Given the description of an element on the screen output the (x, y) to click on. 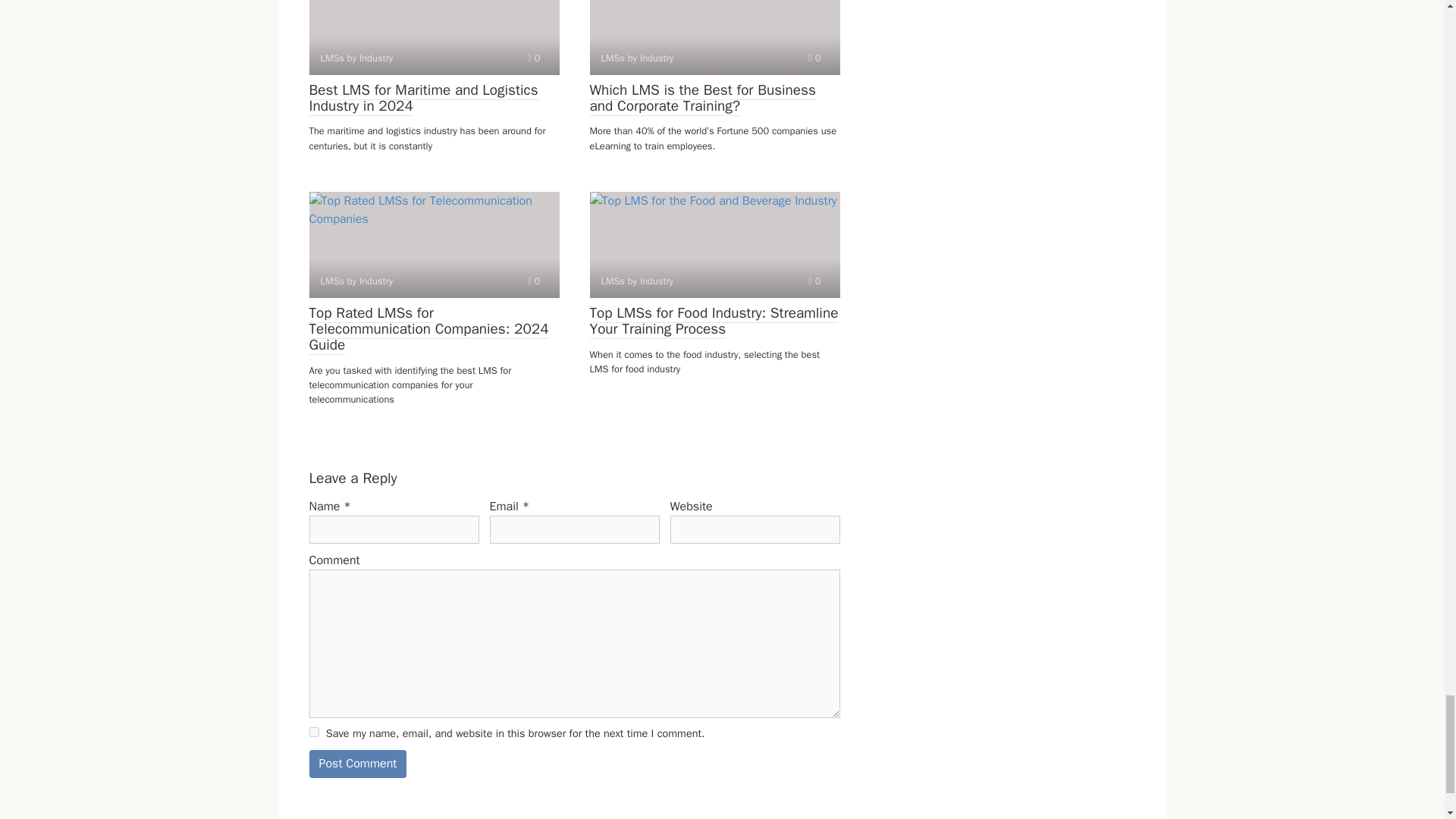
Comments (533, 58)
Comments (814, 281)
Post Comment (357, 764)
yes (313, 732)
Comments (814, 58)
Comments (533, 281)
